Given the description of an element on the screen output the (x, y) to click on. 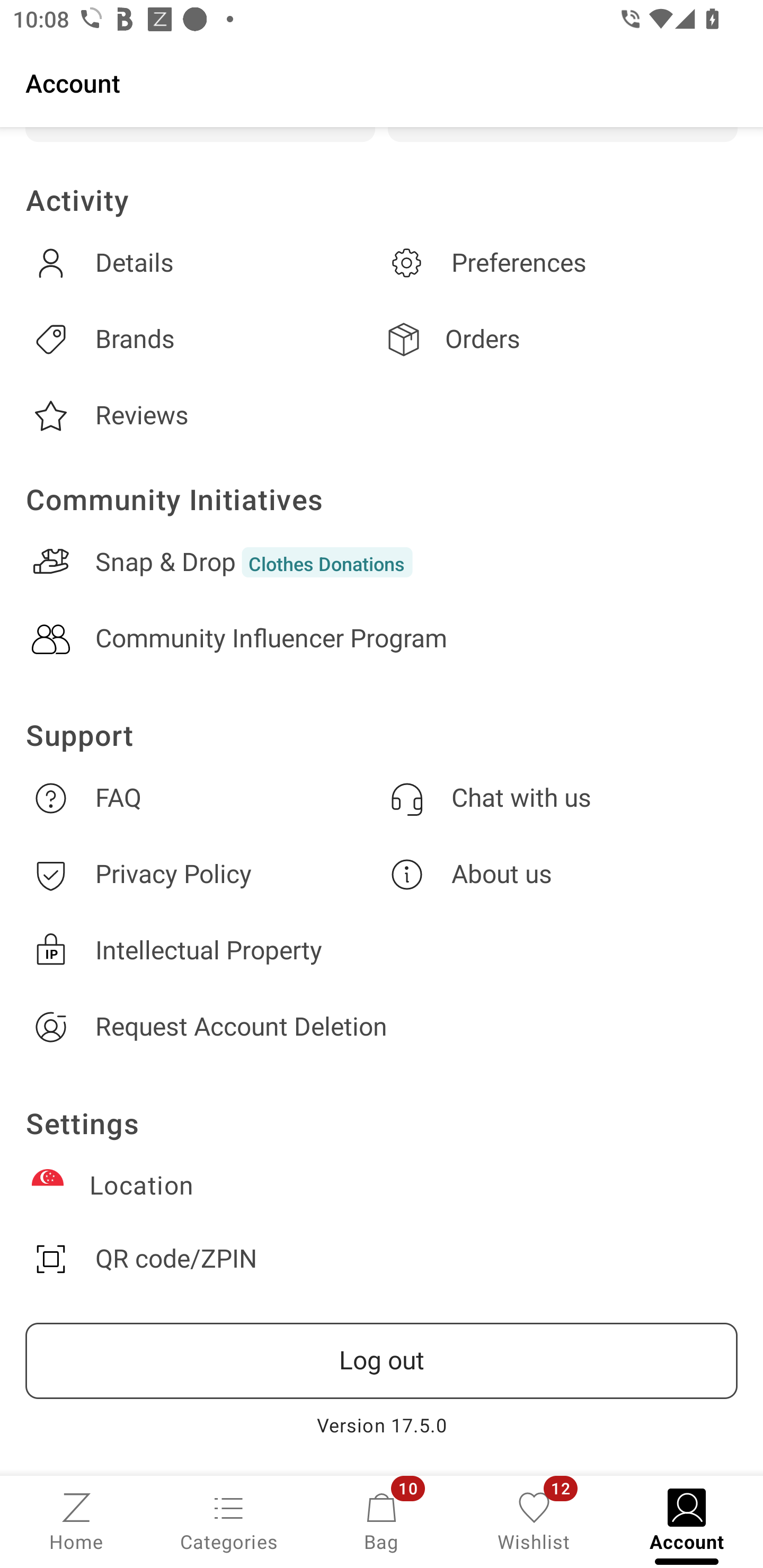
Account (381, 82)
Details (203, 263)
Preferences (559, 263)
Brands (203, 339)
Orders (559, 339)
Reviews (203, 415)
Snap & DropClothes Donations (381, 561)
Community Influencer Program (381, 638)
FAQ (203, 797)
Chat with us (559, 797)
Privacy Policy (203, 873)
About us (559, 873)
Intellectual Property (381, 950)
Request Account Deletion (381, 1026)
QR code/ZPIN (381, 1258)
Log out (381, 1360)
Home (76, 1519)
Categories (228, 1519)
Bag, 10 new notifications Bag (381, 1519)
Wishlist, 12 new notifications Wishlist (533, 1519)
